Given the description of an element on the screen output the (x, y) to click on. 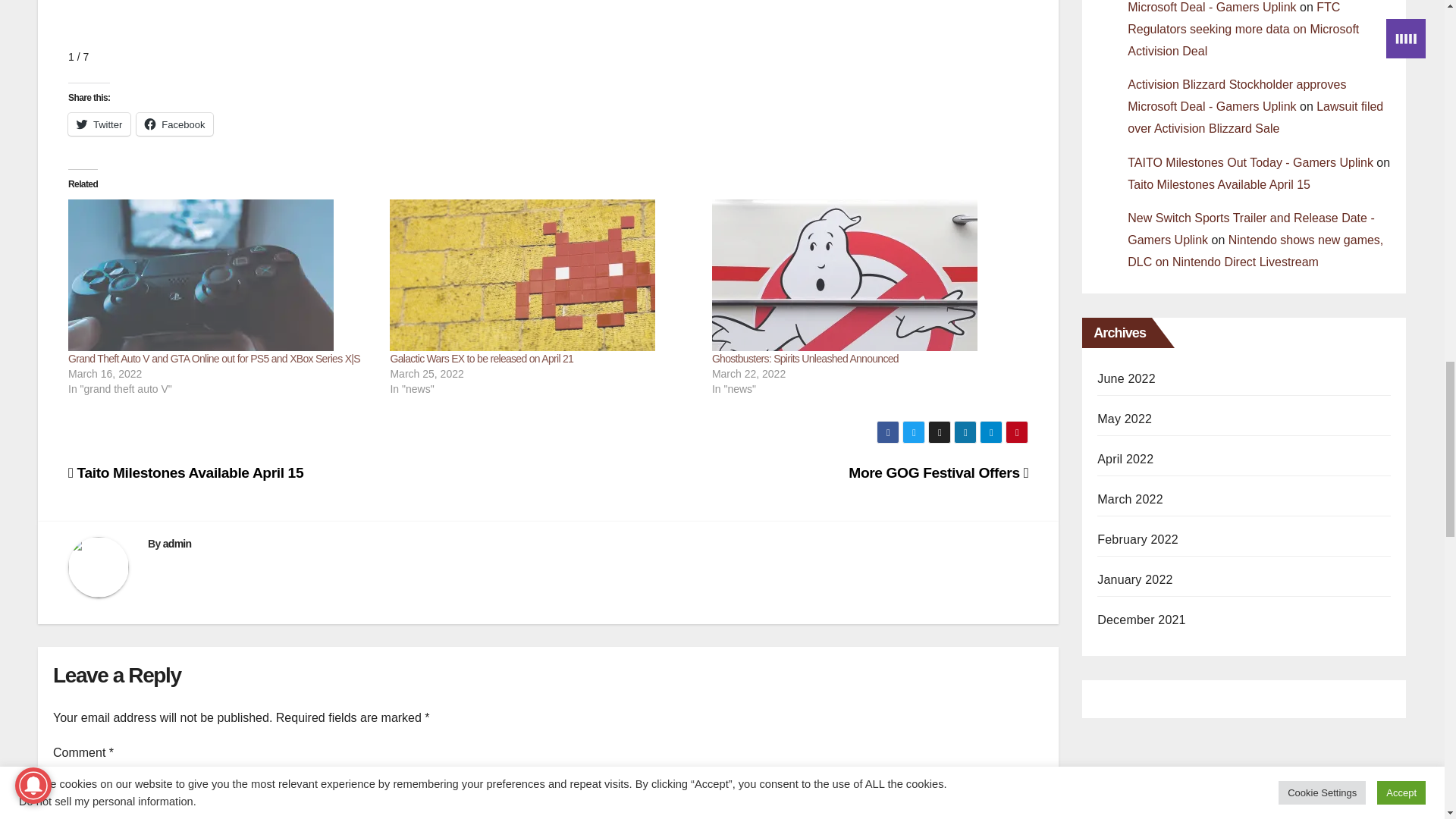
Twitter (99, 124)
Click to share on Twitter (99, 124)
Click to share on Facebook (174, 124)
Facebook (174, 124)
